Given the description of an element on the screen output the (x, y) to click on. 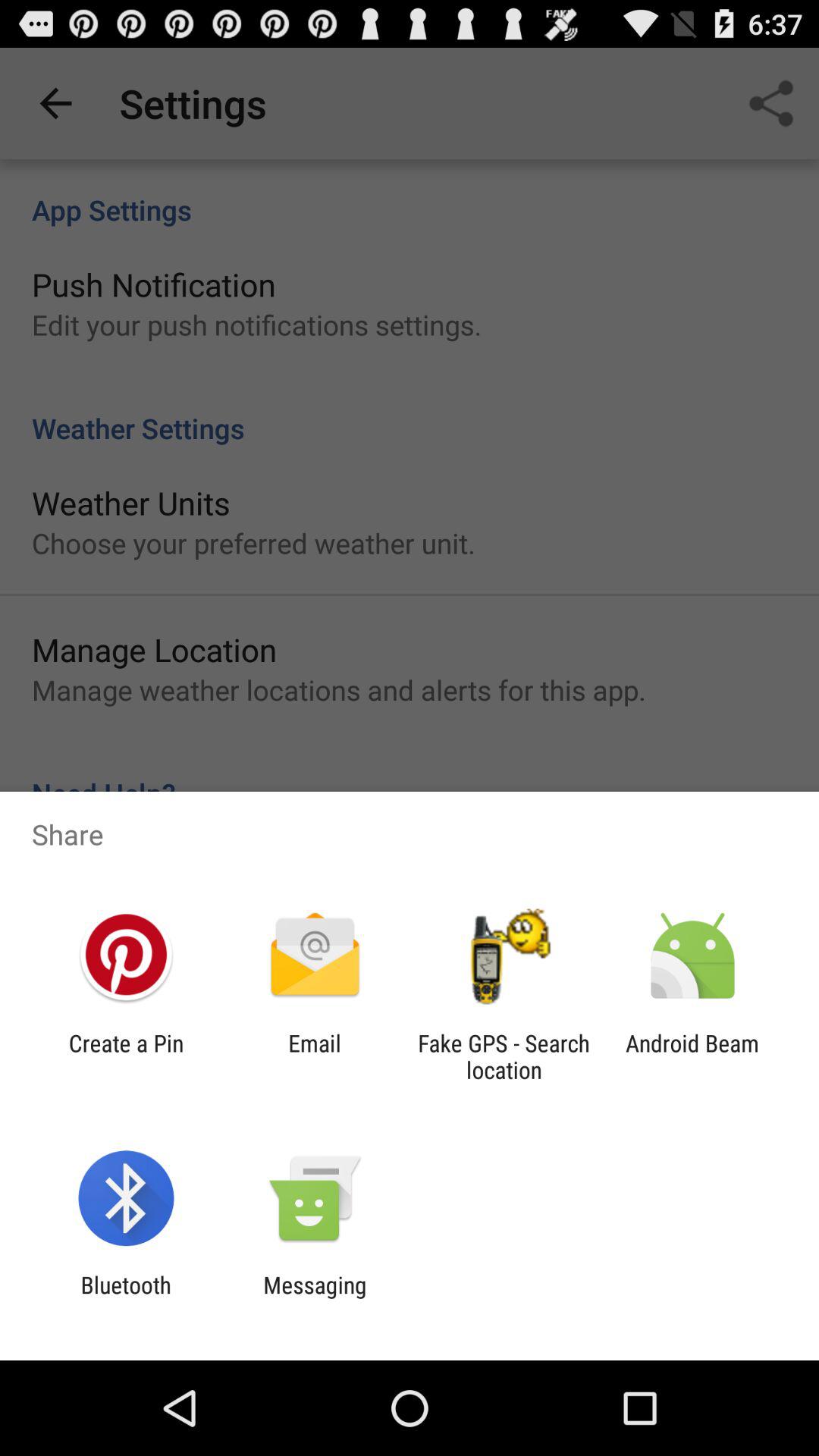
click the icon next to android beam item (503, 1056)
